Given the description of an element on the screen output the (x, y) to click on. 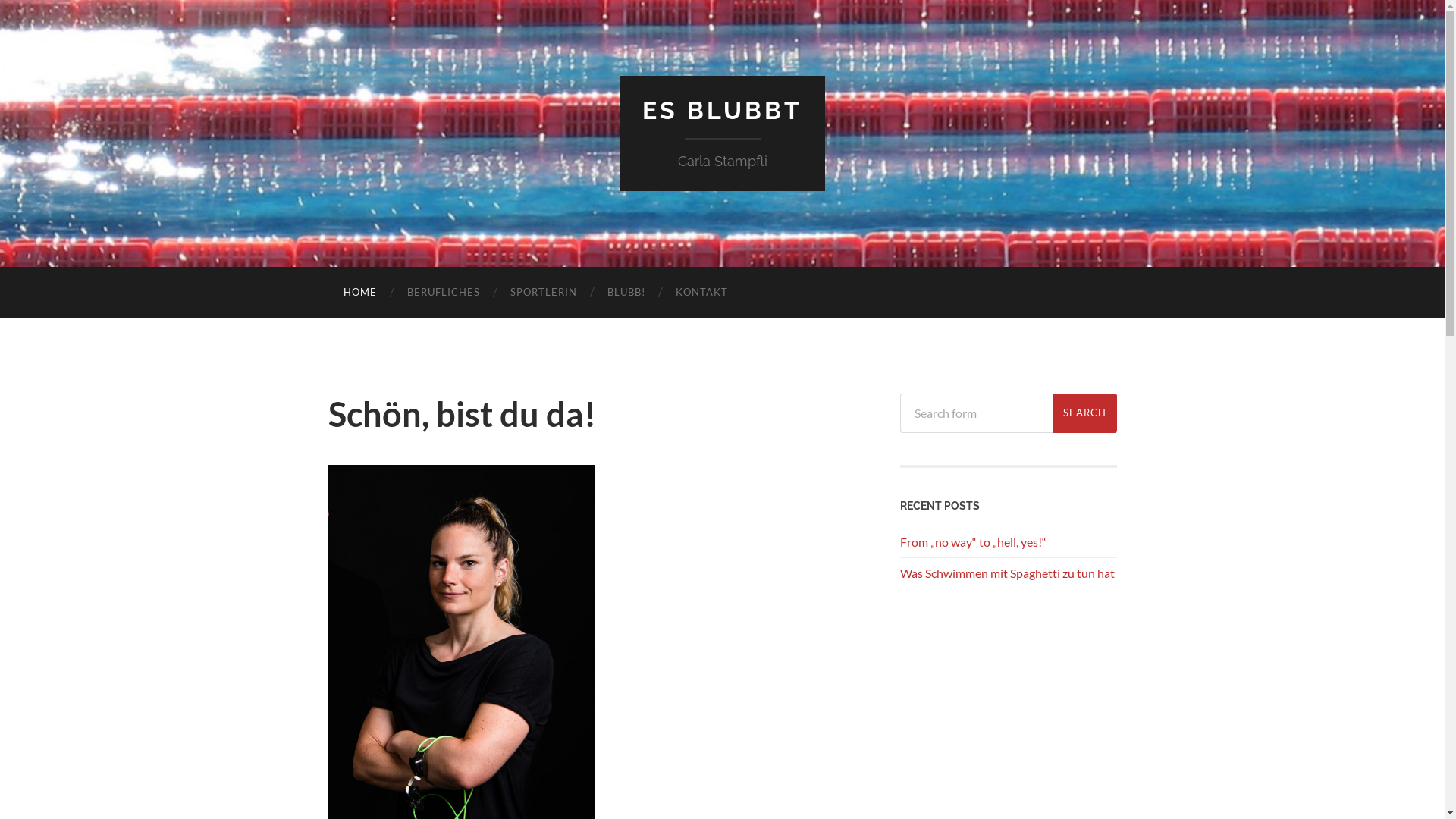
Search Element type: text (1084, 412)
BERUFLICHES Element type: text (442, 291)
KONTAKT Element type: text (700, 291)
SPORTLERIN Element type: text (542, 291)
HOME Element type: text (359, 291)
Was Schwimmen mit Spaghetti zu tun hat Element type: text (1006, 572)
ES BLUBBT Element type: text (722, 110)
BLUBB! Element type: text (625, 291)
